Given the description of an element on the screen output the (x, y) to click on. 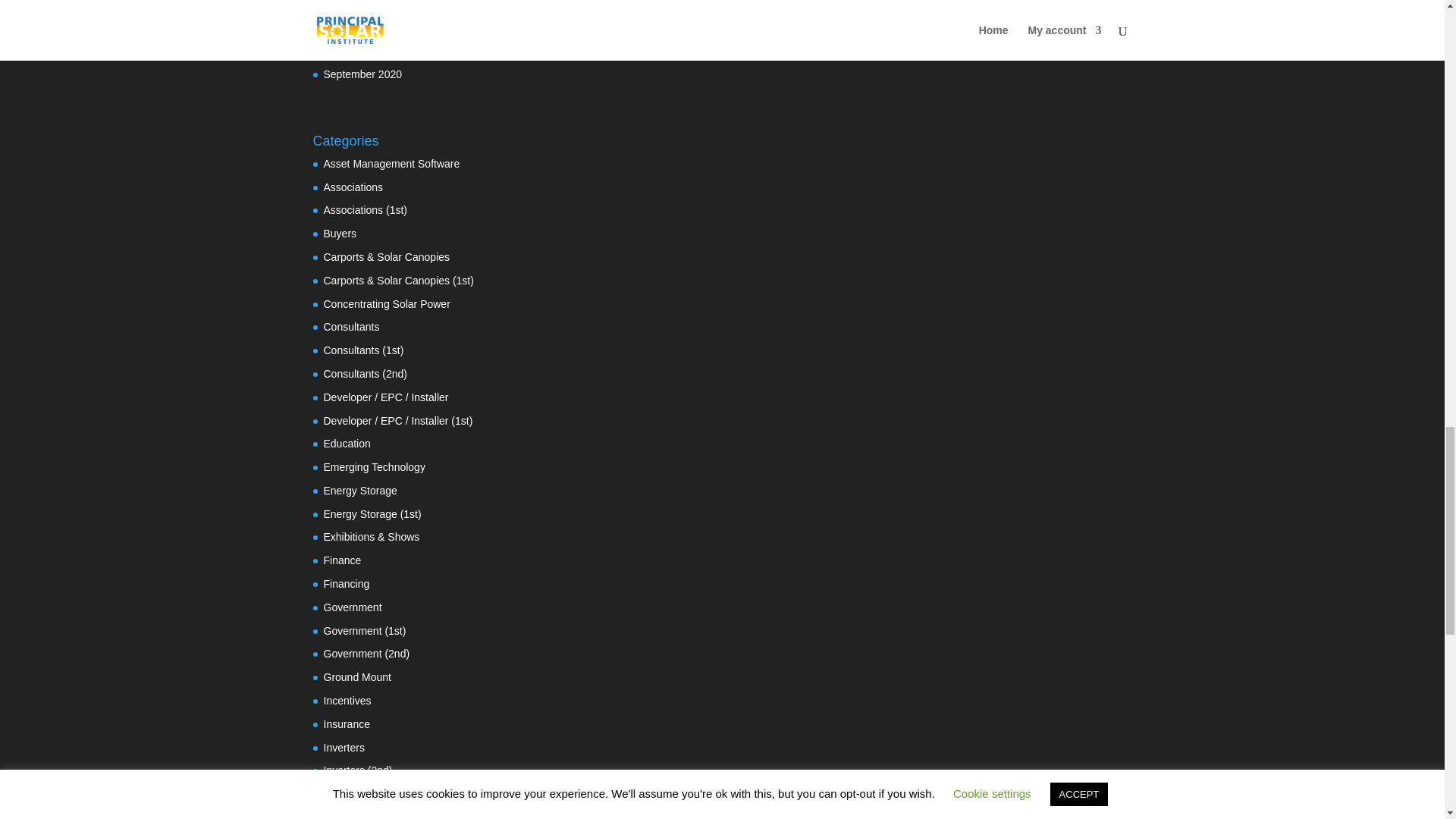
Buyers (339, 233)
Concentrating Solar Power (386, 304)
Energy Storage (359, 490)
Consultants (350, 326)
September 2020 (362, 73)
Associations (352, 186)
Emerging Technology (374, 467)
Education (346, 443)
Asset Management Software (391, 163)
